Given the description of an element on the screen output the (x, y) to click on. 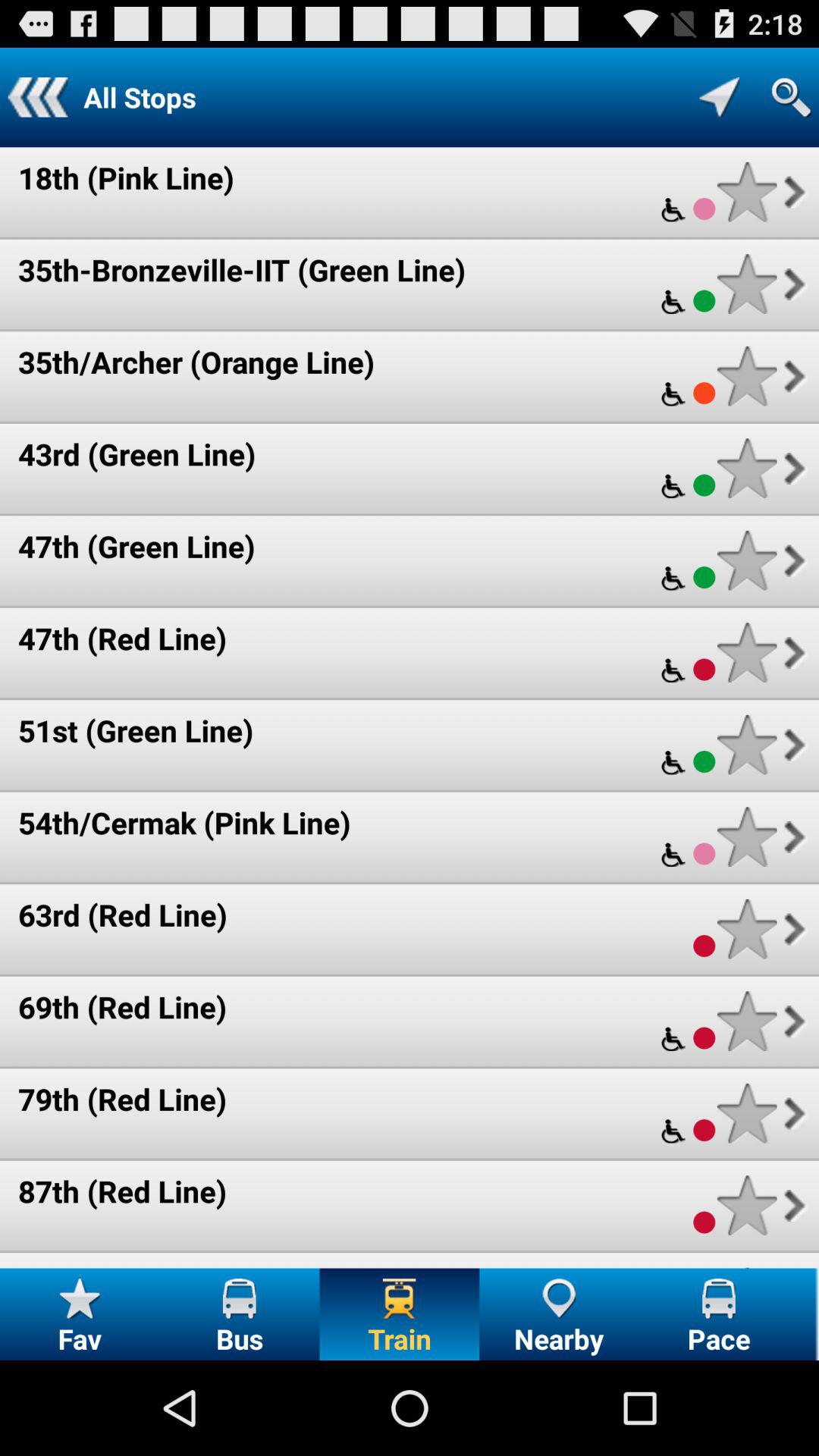
previous menu (37, 97)
